Given the description of an element on the screen output the (x, y) to click on. 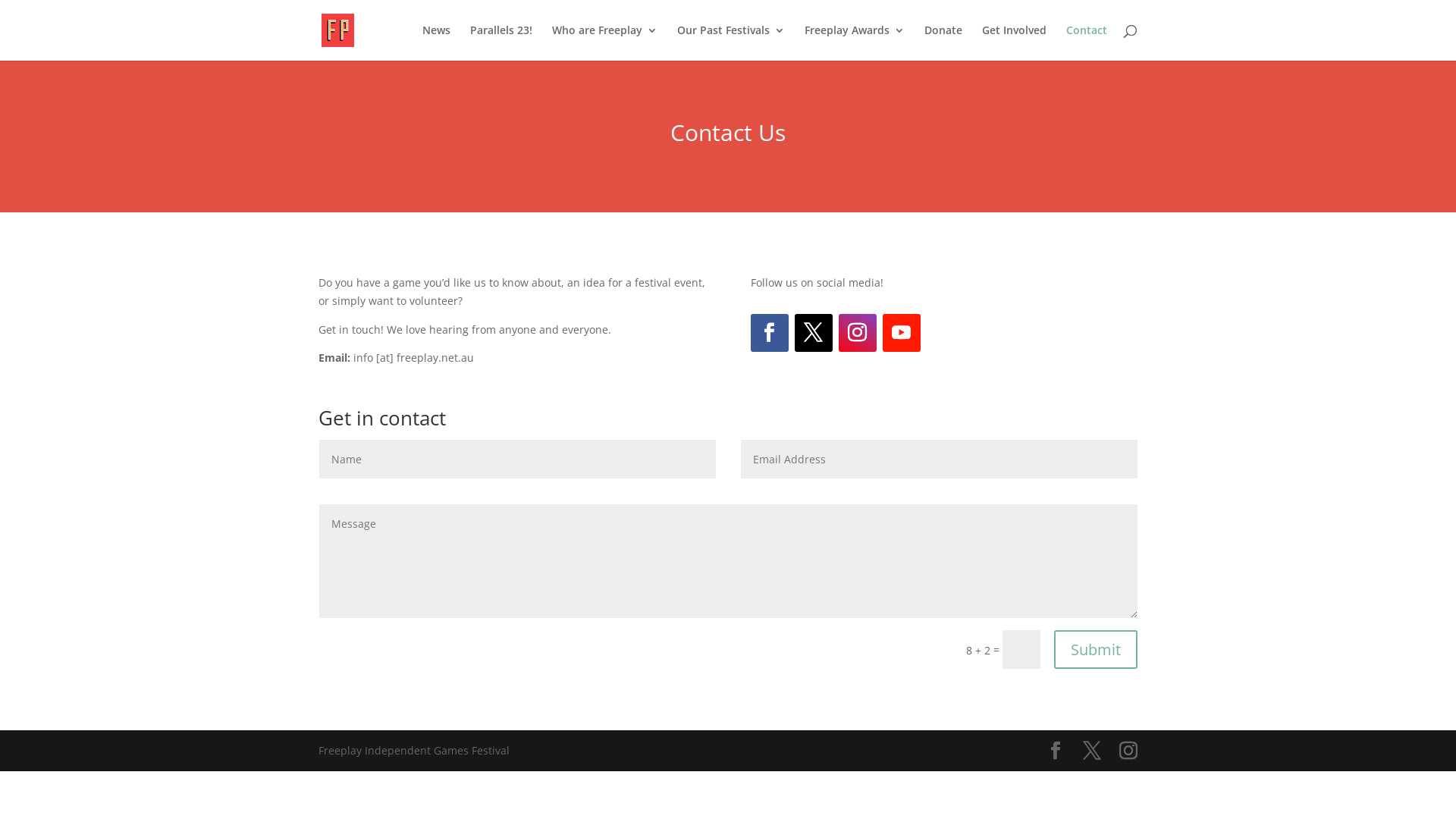
Follow on Facebook Element type: hover (769, 332)
Our Past Festivals Element type: text (730, 42)
Freeplay Awards Element type: text (854, 42)
Who are Freeplay Element type: text (604, 42)
Contact Element type: text (1086, 42)
Submit Element type: text (1095, 649)
Follow on Instagram Element type: hover (857, 332)
Parallels 23! Element type: text (501, 42)
Follow on Youtube Element type: hover (901, 332)
News Element type: text (436, 42)
Donate Element type: text (943, 42)
Follow on X Element type: hover (813, 332)
Get Involved Element type: text (1014, 42)
